Given the description of an element on the screen output the (x, y) to click on. 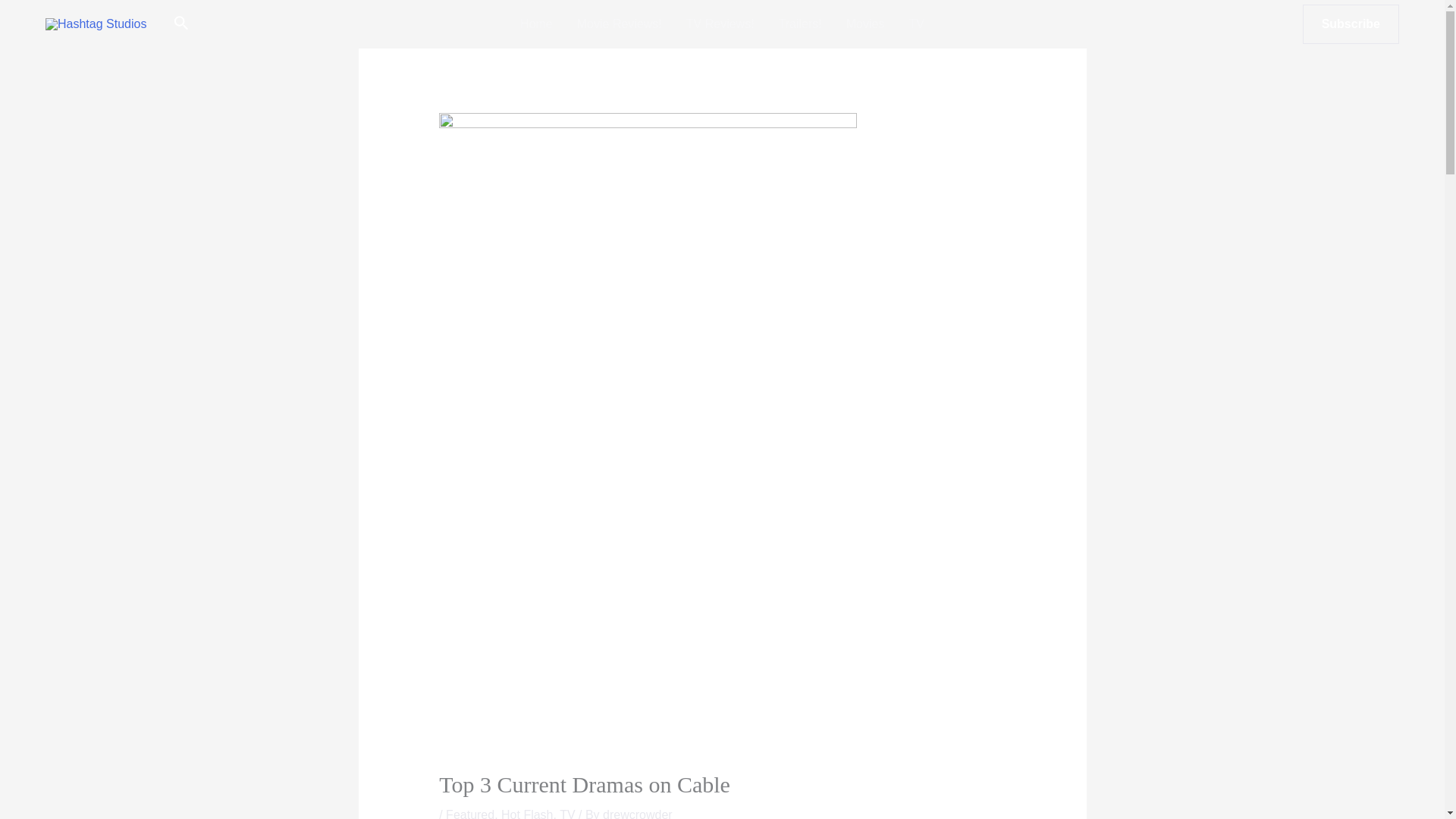
View all posts by drewcrowder (637, 813)
Trailers! (800, 24)
Movies (865, 24)
Subscribe (1351, 24)
TV (567, 813)
Home (536, 24)
Hot Flash (526, 813)
Movie Reviews! (619, 24)
drewcrowder (637, 813)
TV Reviews! (720, 24)
